Given the description of an element on the screen output the (x, y) to click on. 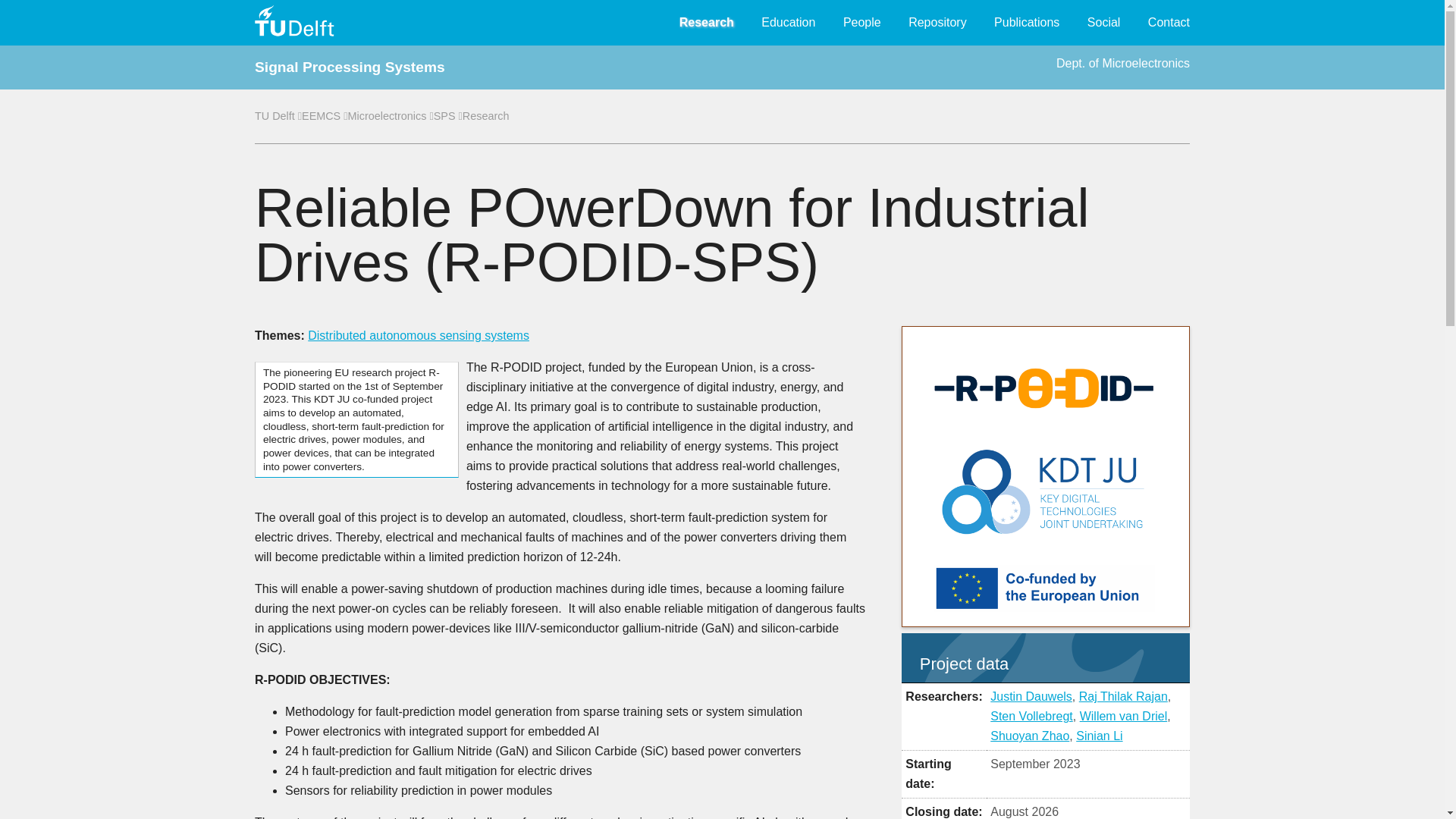
Education (788, 22)
Research (486, 116)
Justin Dauwels (1030, 696)
EEMCS (320, 116)
Dept. of Microelectronics (1123, 62)
University (274, 116)
Raj Thilak Rajan (1122, 696)
Willem van Driel (1123, 716)
Publications (1026, 22)
Contact (1168, 22)
Sinian Li (1098, 735)
Repository (937, 22)
Research Project (486, 116)
Sten Vollebregt (1031, 716)
Faculty (320, 116)
